Given the description of an element on the screen output the (x, y) to click on. 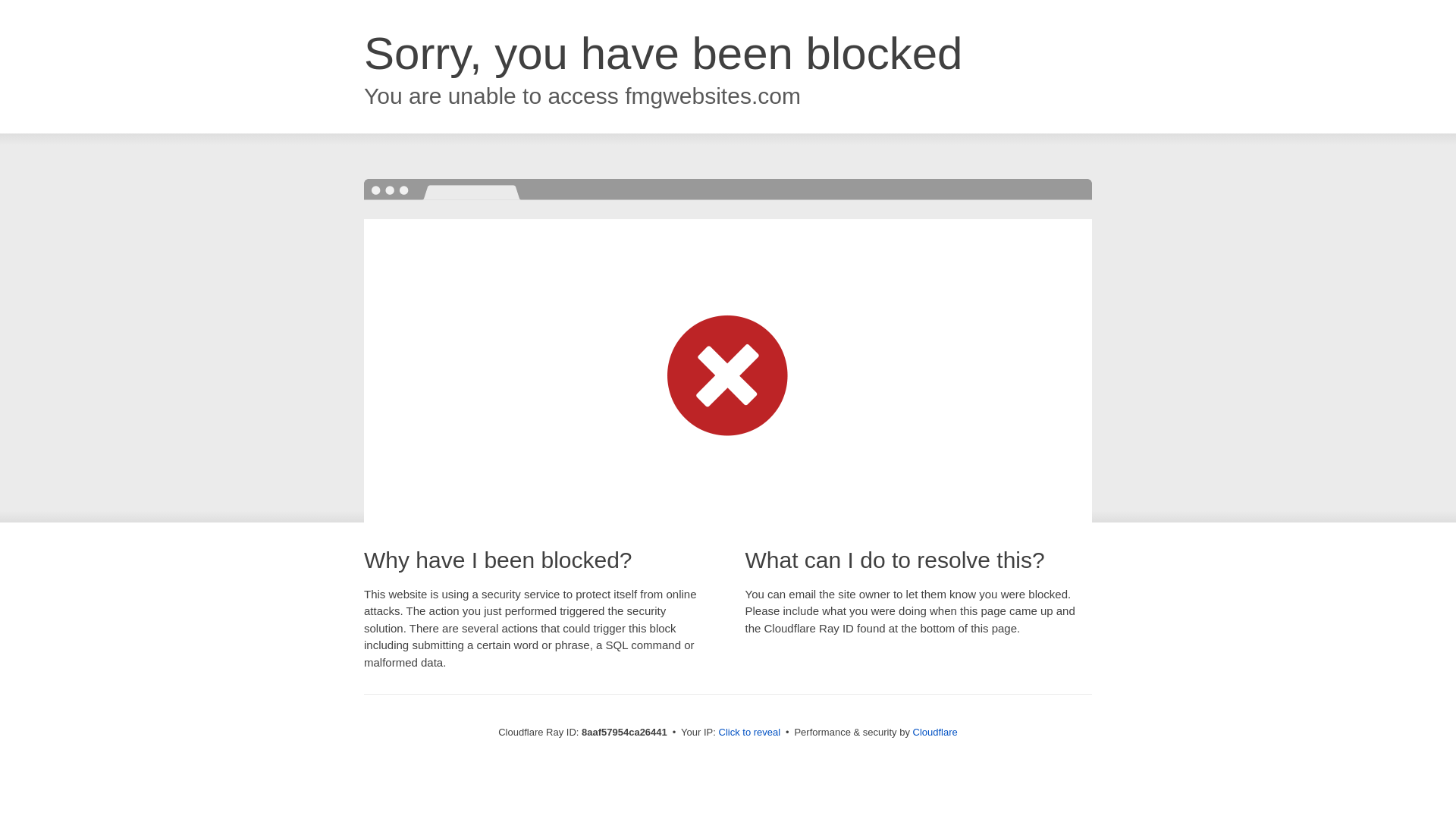
Click to reveal (749, 732)
Cloudflare (935, 731)
